Given the description of an element on the screen output the (x, y) to click on. 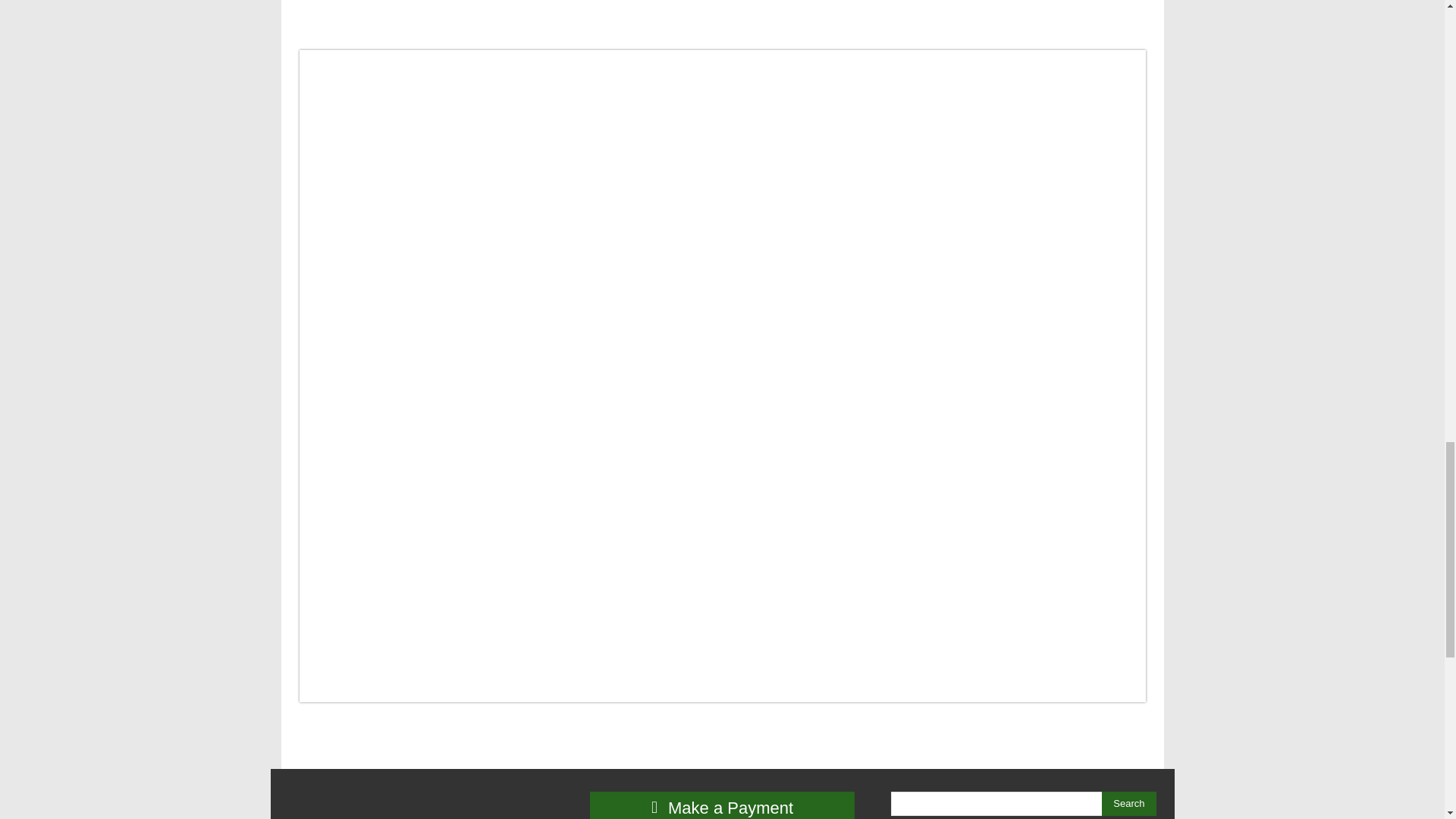
Make a Payment (721, 805)
